Given the description of an element on the screen output the (x, y) to click on. 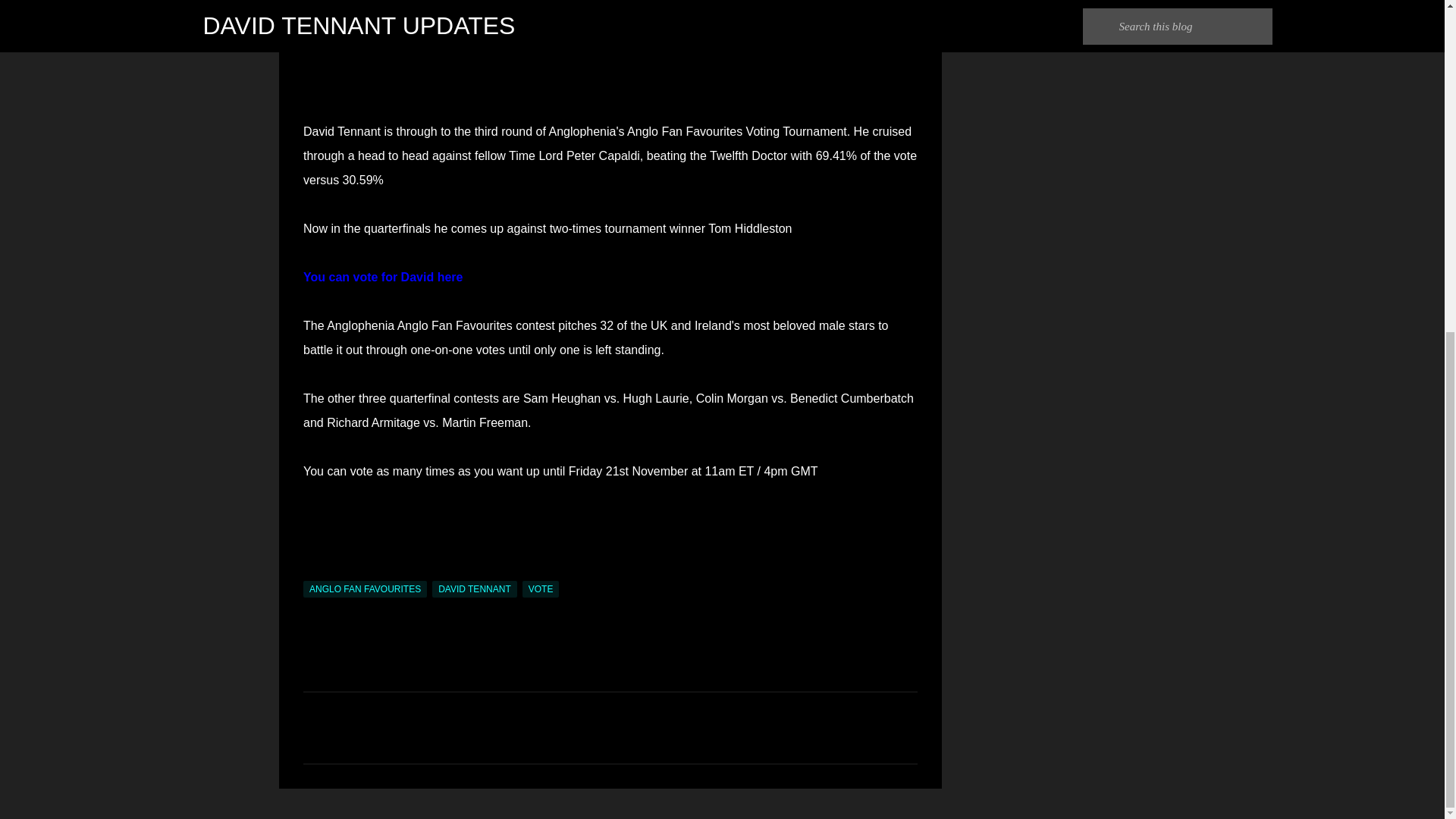
Email Post (311, 571)
DAVID TENNANT (474, 588)
ANGLO FAN FAVOURITES (364, 588)
VOTE (540, 588)
You can vote for David here (382, 277)
